Given the description of an element on the screen output the (x, y) to click on. 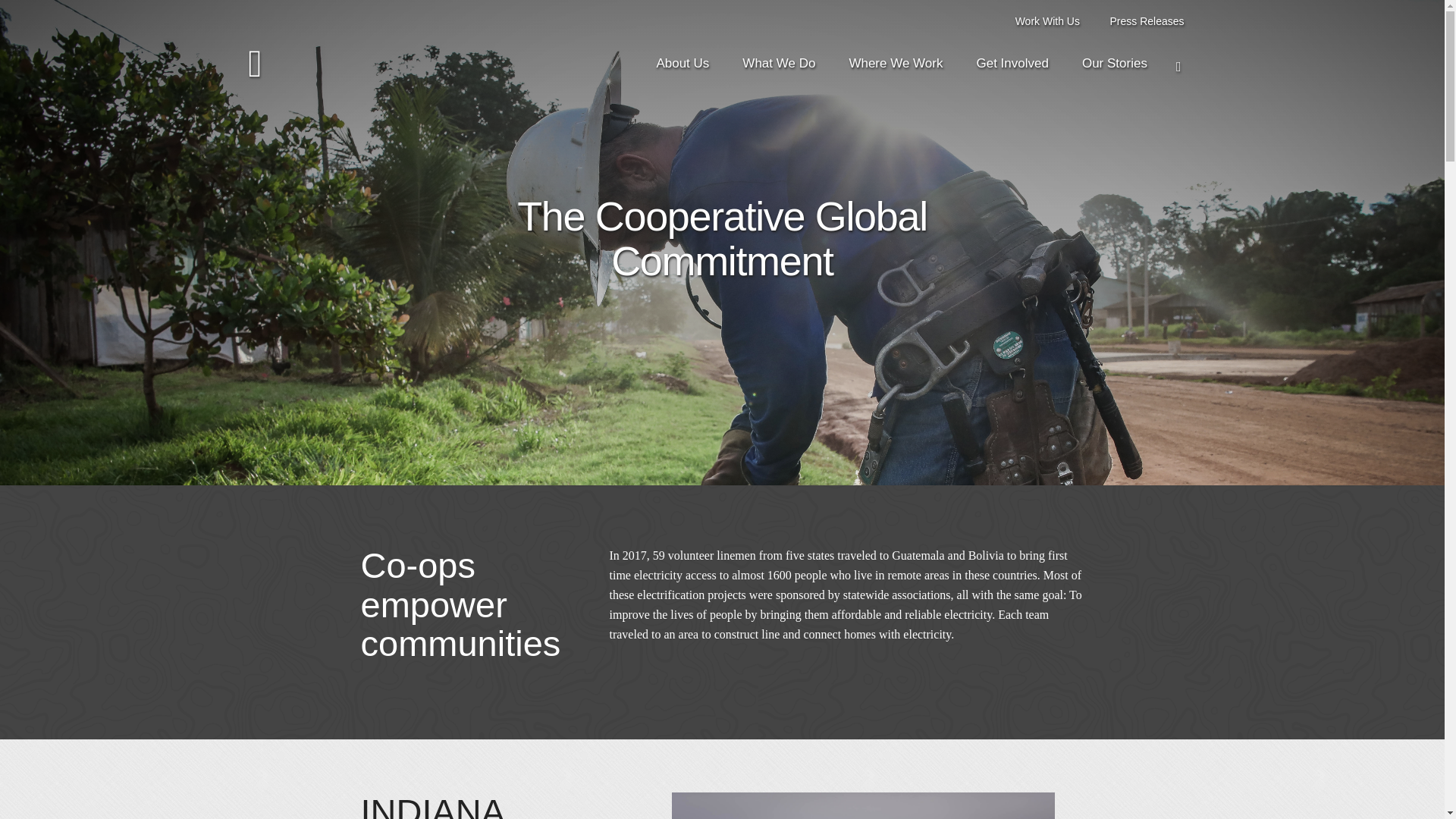
Our Stories (1114, 65)
Work With Us (1048, 21)
Where We Work (895, 65)
Get Involved (1011, 65)
About Us (682, 65)
Press Releases (1146, 21)
What We Do (778, 65)
